Given the description of an element on the screen output the (x, y) to click on. 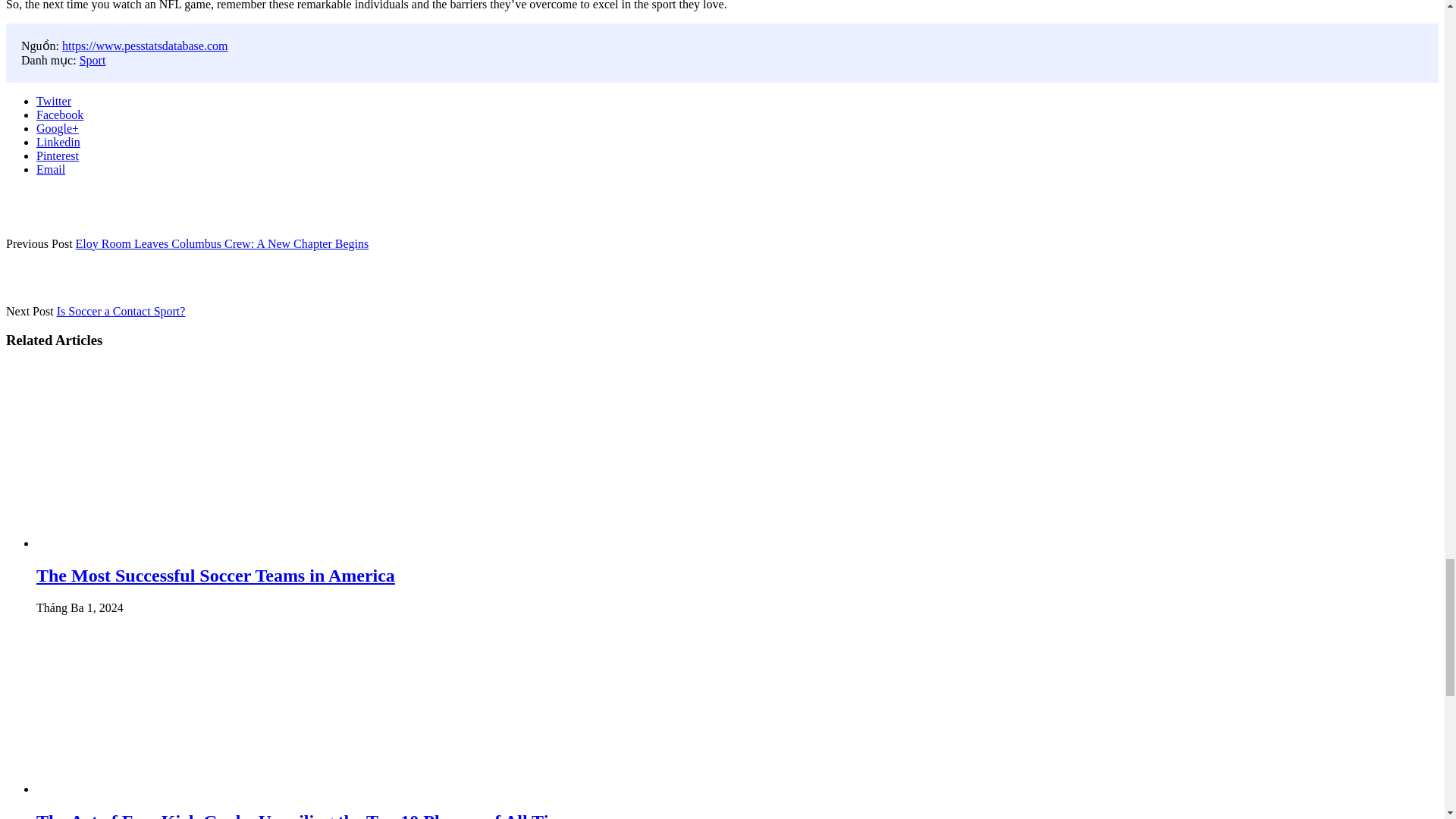
Facebook (59, 113)
Email (50, 168)
Pinterest (57, 154)
Sport (93, 59)
Twitter (53, 100)
Is Soccer a Contact Sport? (121, 310)
Eloy Room Leaves Columbus Crew: A New Chapter Begins (222, 242)
Linkedin (58, 141)
